Given the description of an element on the screen output the (x, y) to click on. 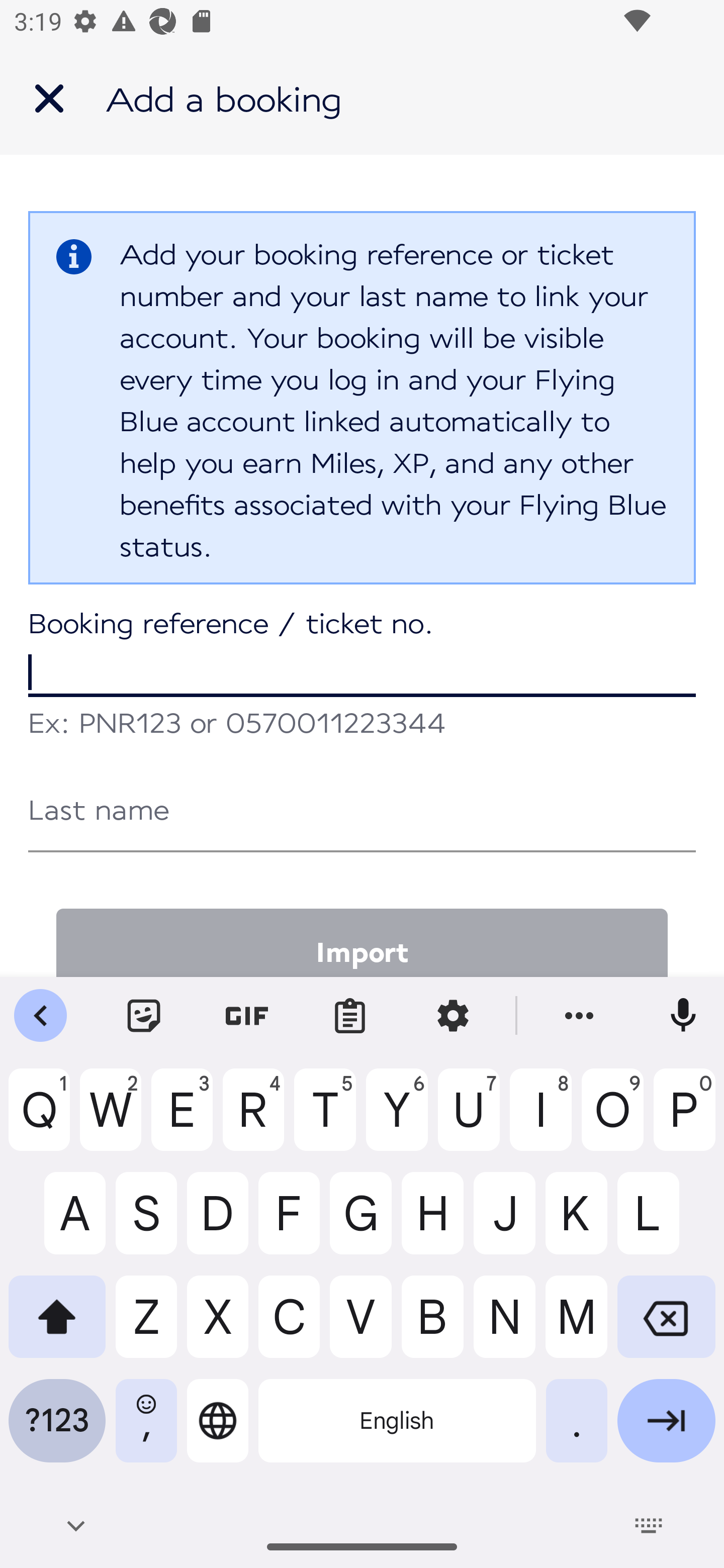
Booking reference / ticket no. (361, 655)
Last name (361, 810)
Import (361, 941)
